Given the description of an element on the screen output the (x, y) to click on. 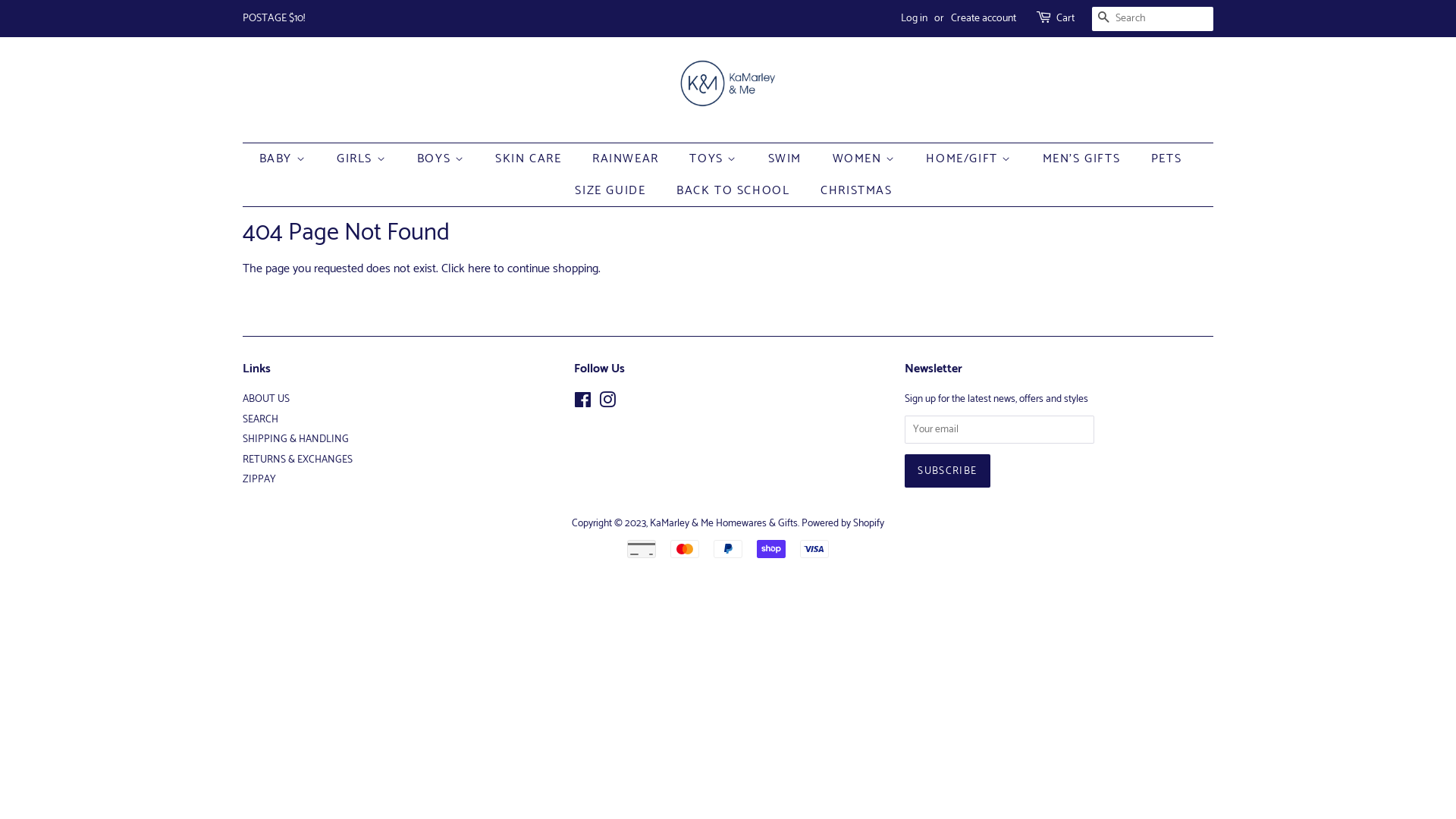
Instagram Element type: text (607, 403)
BACK TO SCHOOL Element type: text (734, 190)
MEN'S GIFTS Element type: text (1083, 158)
BABY Element type: text (290, 158)
RETURNS & EXCHANGES Element type: text (297, 459)
RAINWEAR Element type: text (627, 158)
Cart Element type: text (1065, 18)
GIRLS Element type: text (363, 158)
CHRISTMAS Element type: text (850, 190)
Log in Element type: text (913, 18)
PETS Element type: text (1167, 158)
ZIPPAY Element type: text (259, 478)
SKIN CARE Element type: text (529, 158)
WOMEN Element type: text (865, 158)
Subscribe Element type: text (946, 470)
SEARCH Element type: text (260, 419)
ABOUT US Element type: text (265, 398)
TOYS Element type: text (714, 158)
Powered by Shopify Element type: text (842, 522)
SEARCH Element type: text (1104, 18)
SHIPPING & HANDLING Element type: text (295, 438)
BOYS Element type: text (442, 158)
Create account Element type: text (983, 18)
Facebook Element type: text (582, 403)
HOME/GIFT Element type: text (970, 158)
KaMarley & Me Homewares & Gifts Element type: text (723, 522)
here Element type: text (478, 268)
SWIM Element type: text (786, 158)
SIZE GUIDE Element type: text (611, 190)
